Given the description of an element on the screen output the (x, y) to click on. 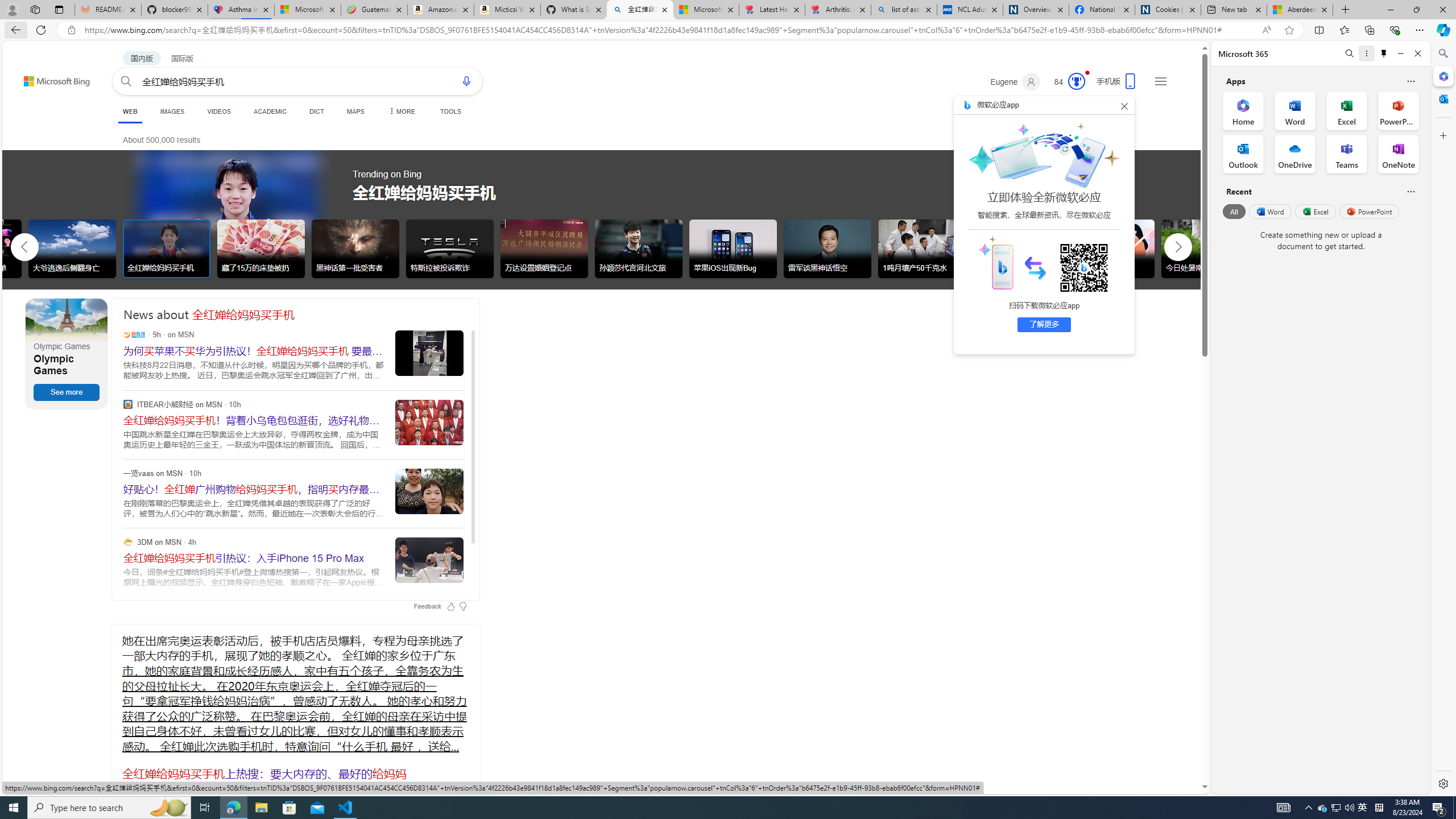
AutomationID: rh_meter (1076, 80)
TOOLS (450, 111)
MAPS (355, 111)
Dropdown Menu (400, 111)
Settings and quick links (1160, 80)
Animation (1086, 72)
DICT (316, 111)
Feedback Like (450, 605)
